Given the description of an element on the screen output the (x, y) to click on. 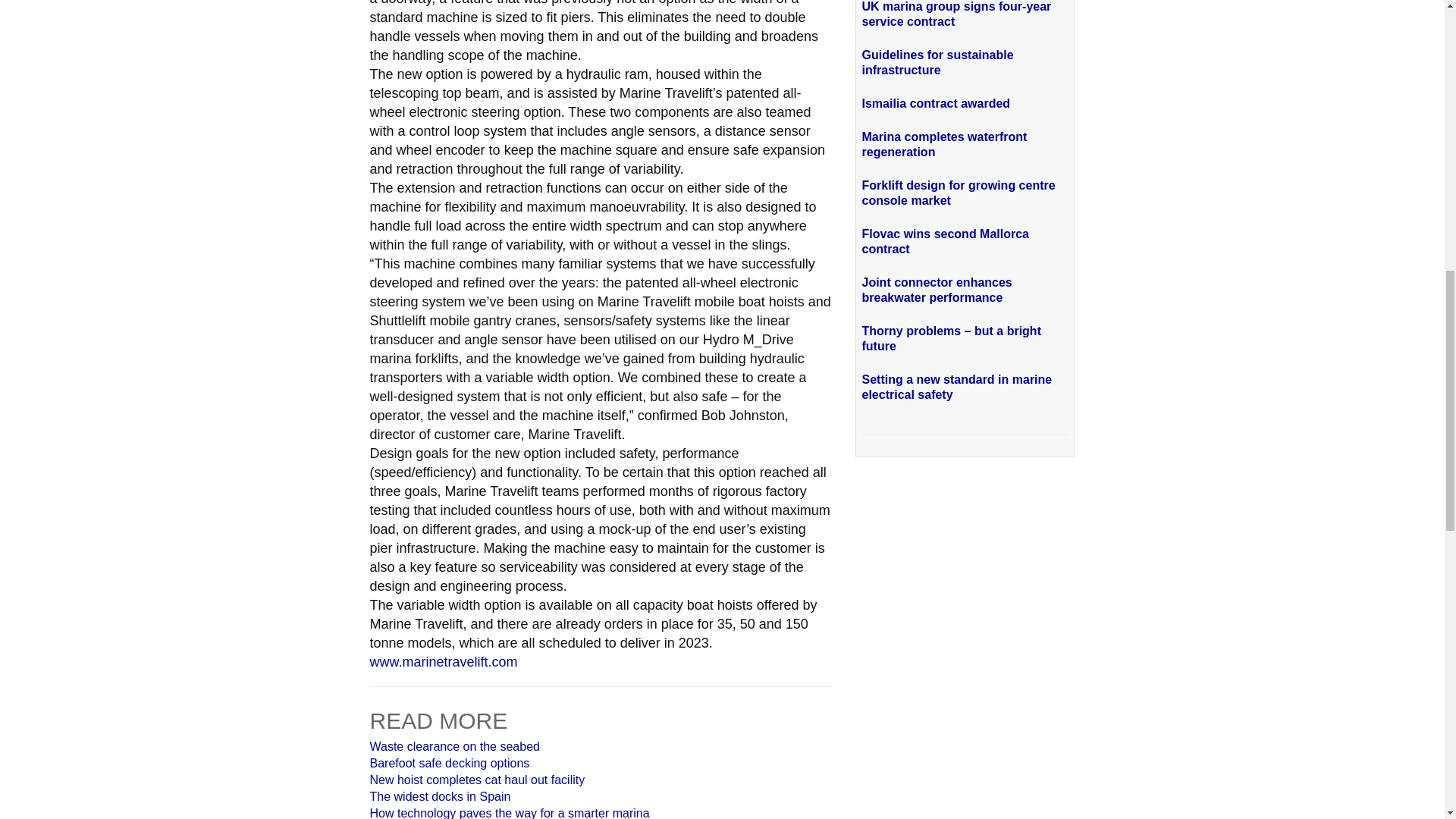
Waste clearance on the seabed (454, 746)
How technology paves the way for a smarter marina (509, 812)
The widest docks in Spain (440, 796)
www.marinetravelift.com (443, 661)
Barefoot safe decking options (449, 762)
New hoist completes cat haul out facility (477, 779)
